Given the description of an element on the screen output the (x, y) to click on. 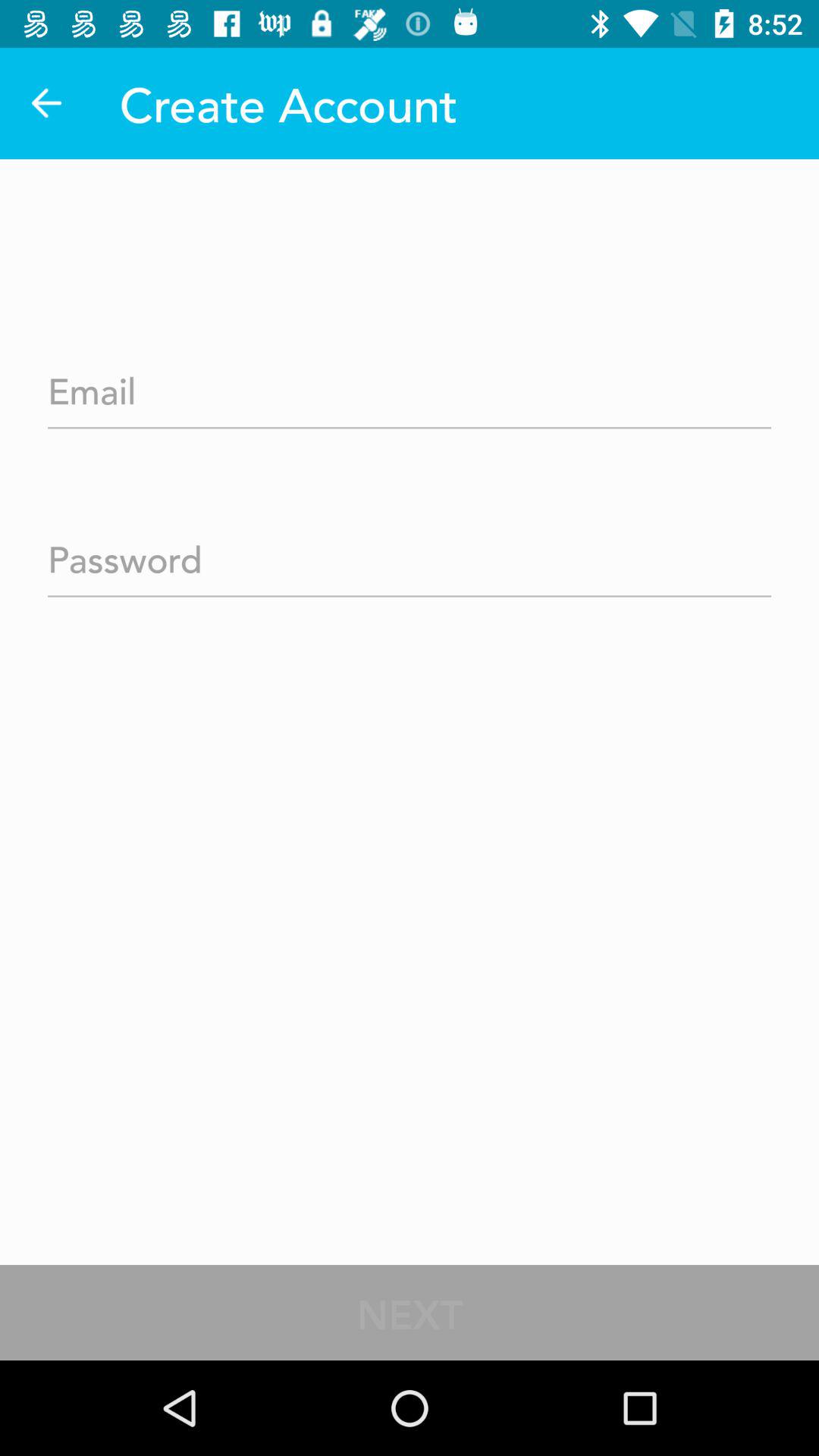
password field (409, 554)
